Given the description of an element on the screen output the (x, y) to click on. 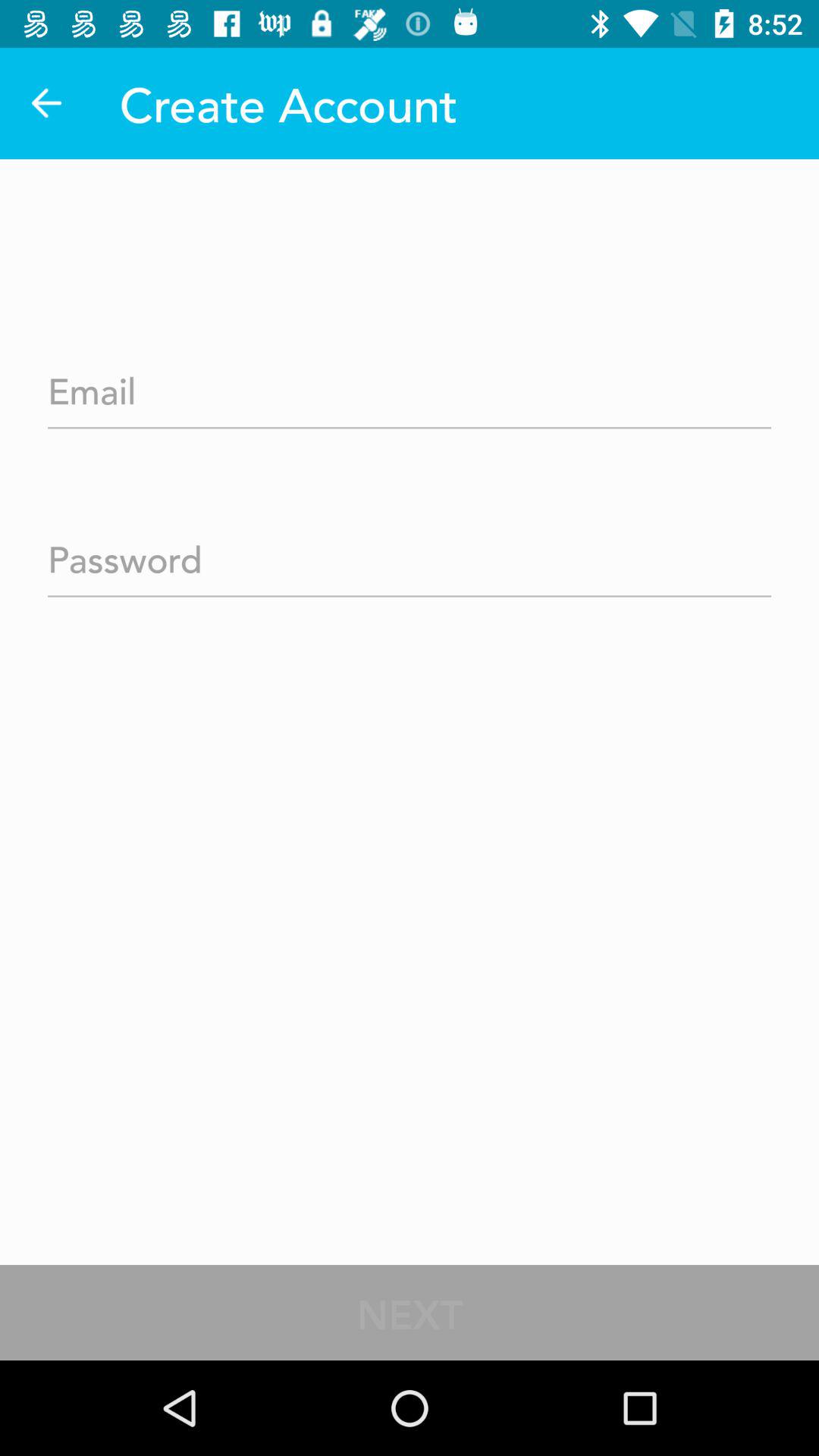
password field (409, 554)
